Given the description of an element on the screen output the (x, y) to click on. 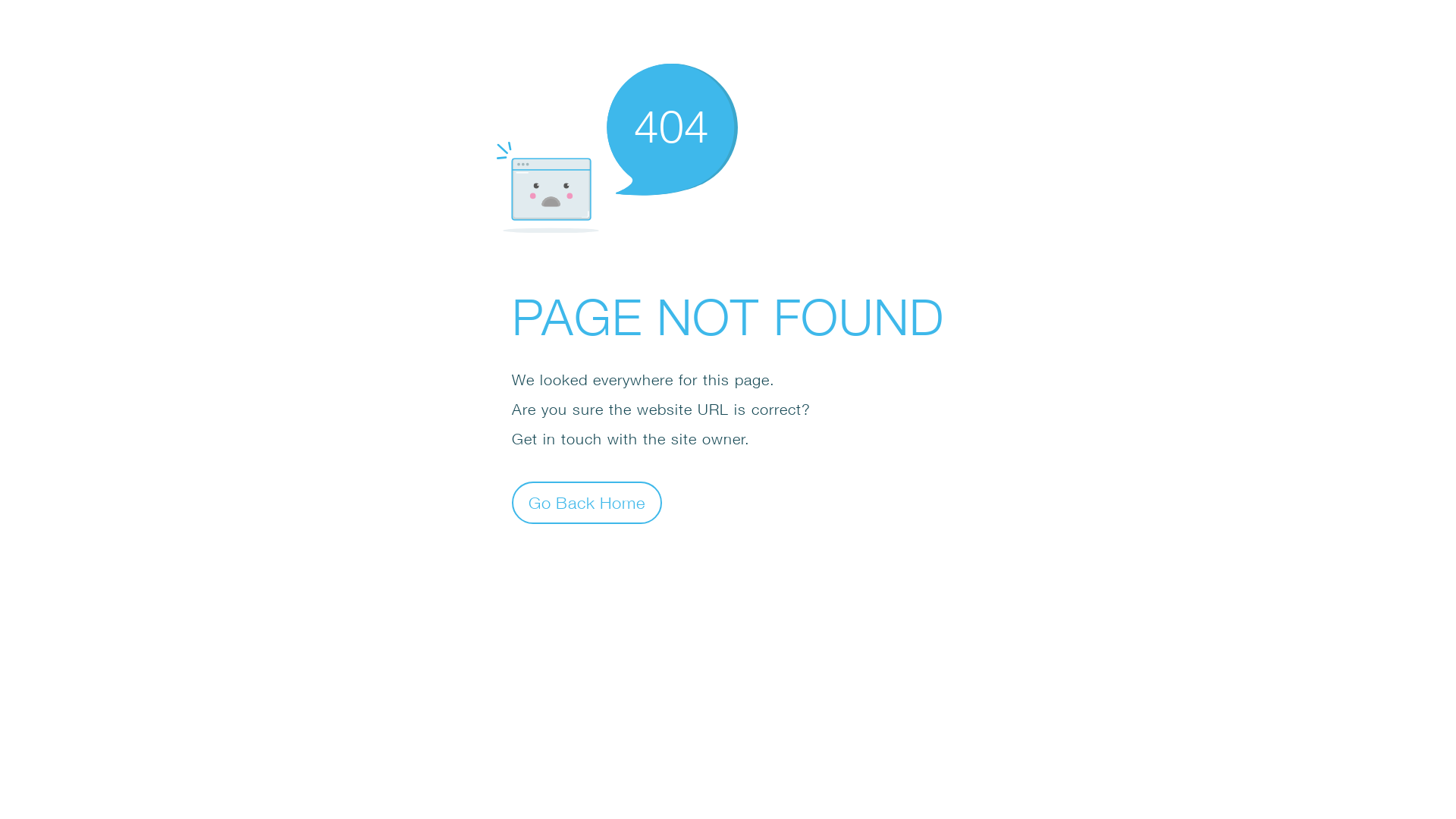
Go Back Home Element type: text (586, 502)
